Given the description of an element on the screen output the (x, y) to click on. 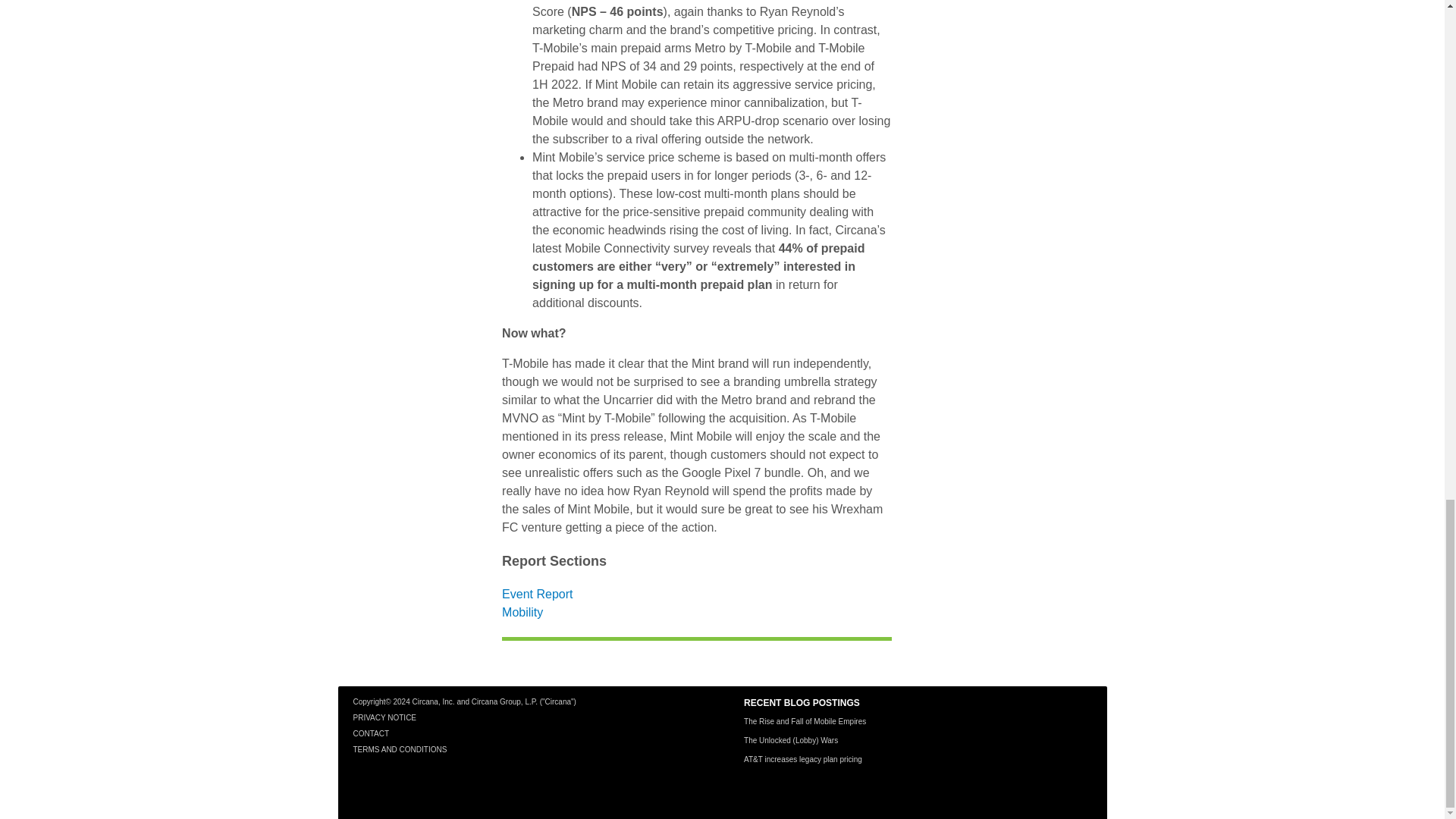
PRIVACY NOTICE (384, 717)
TERMS AND CONDITIONS (399, 749)
Mobility (522, 612)
CONTACT (371, 733)
Event Report (537, 594)
The Rise and Fall of Mobile Empires (805, 721)
